Given the description of an element on the screen output the (x, y) to click on. 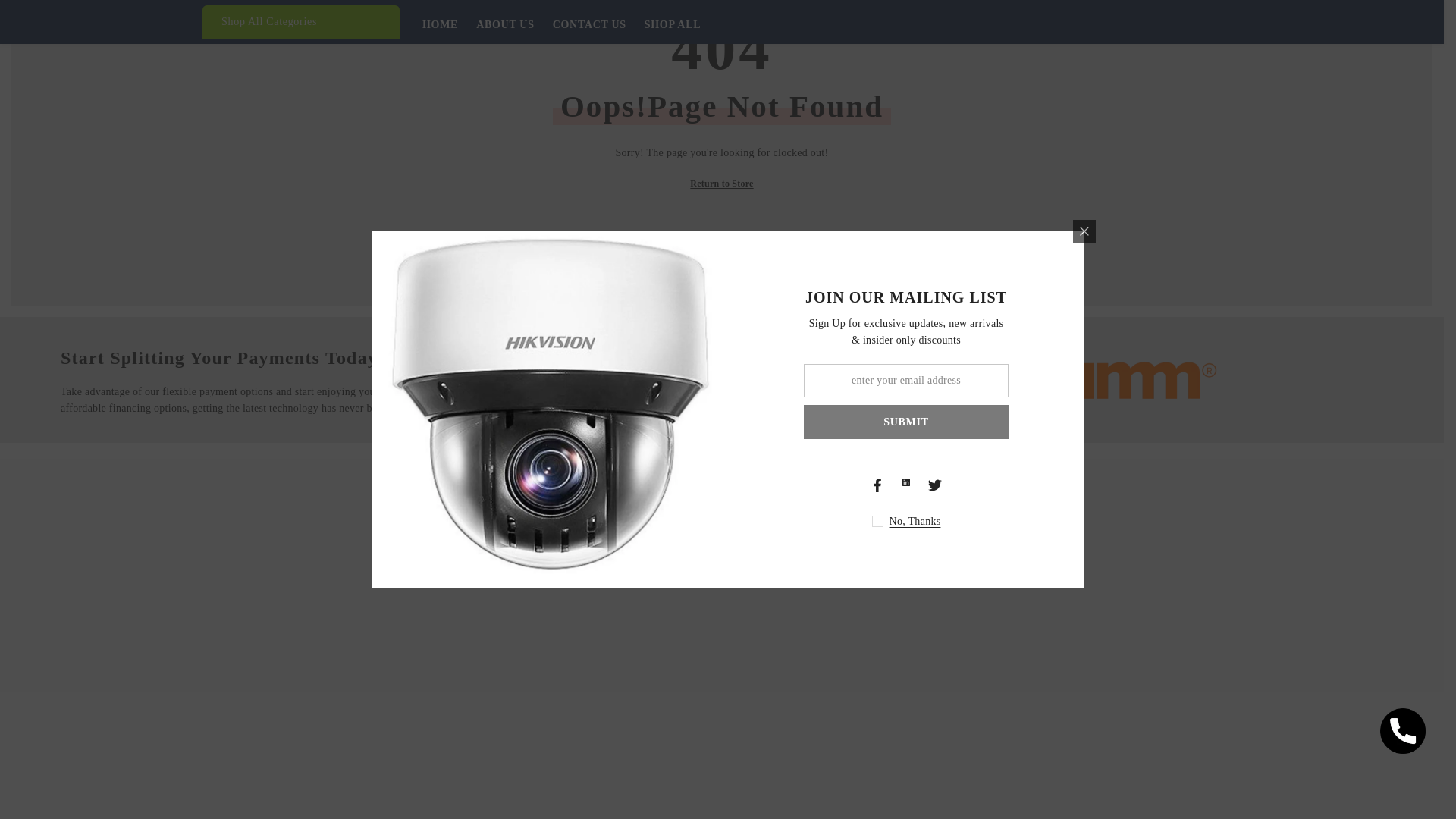
Google Pay (1098, 757)
Mastercard (1000, 757)
REVIEWS (698, 590)
Apple Pay (1049, 757)
Humm (1145, 757)
Visa (903, 590)
